Given the description of an element on the screen output the (x, y) to click on. 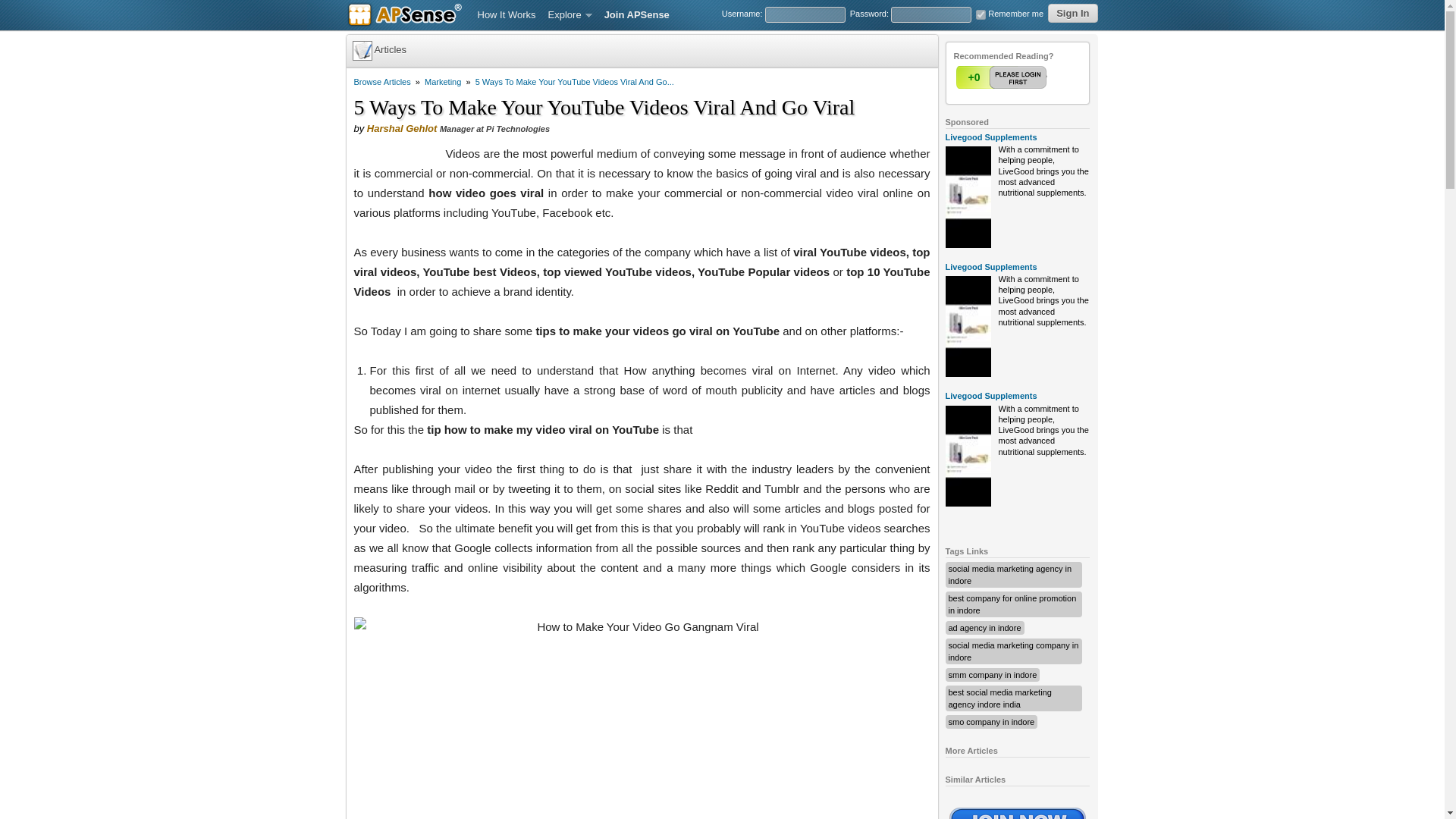
Vote Down (1031, 77)
Livegood Supplements (990, 136)
Marketing (443, 81)
best company for online promotion in indore (1011, 604)
1 (1002, 77)
Vote Up (1002, 77)
5 Ways To Make Your YouTube Videos Viral And Go... (575, 81)
1 (1002, 77)
social media marketing agency in indore (1009, 574)
Browse Articles (381, 81)
